Given the description of an element on the screen output the (x, y) to click on. 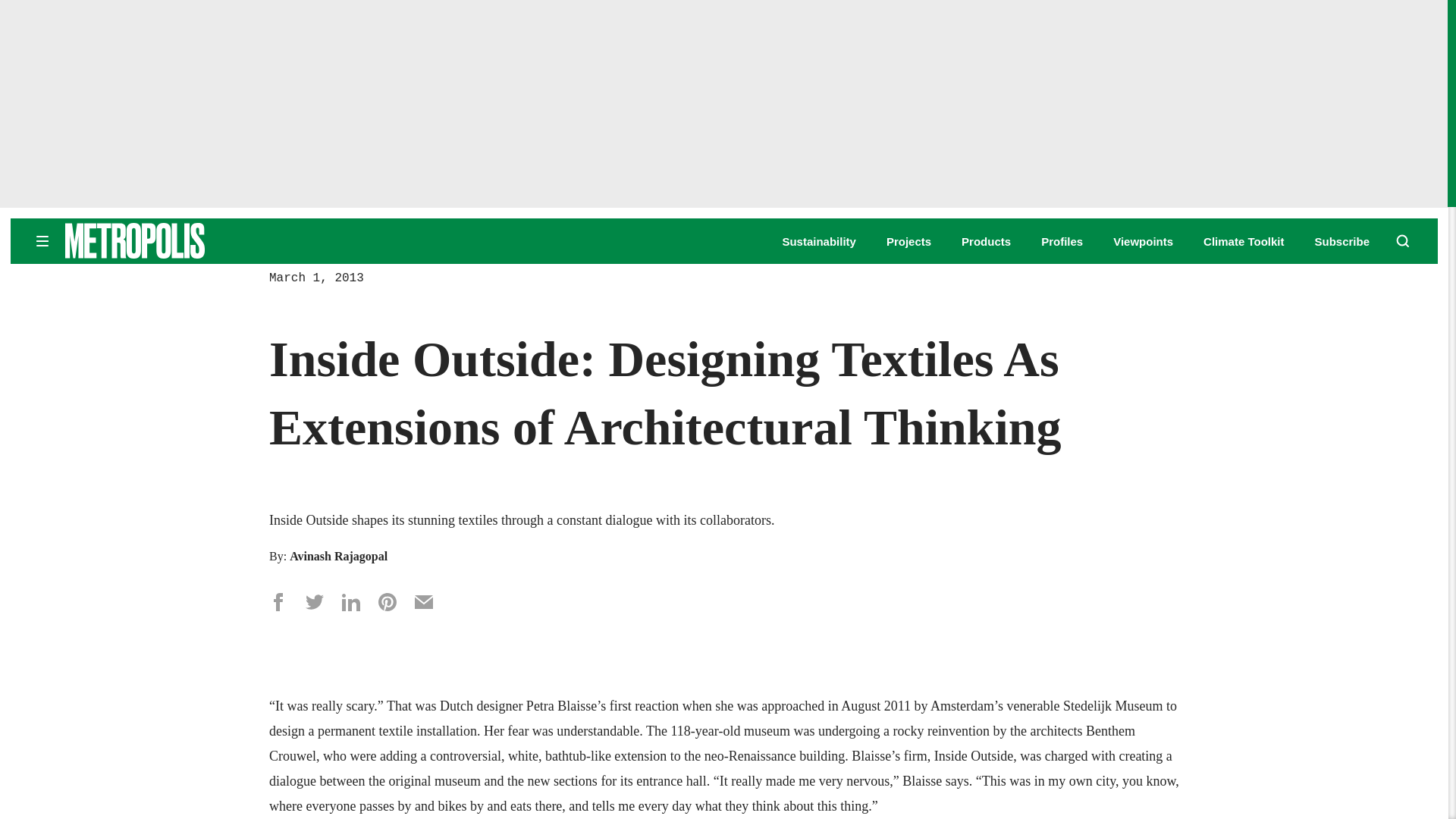
Subscribe (1342, 241)
METROPOLIS (181, 240)
Projects (908, 241)
Sustainability (818, 241)
Products (985, 241)
Profiles (1062, 241)
Viewpoints (1143, 241)
Climate Toolkit (1244, 241)
